Given the description of an element on the screen output the (x, y) to click on. 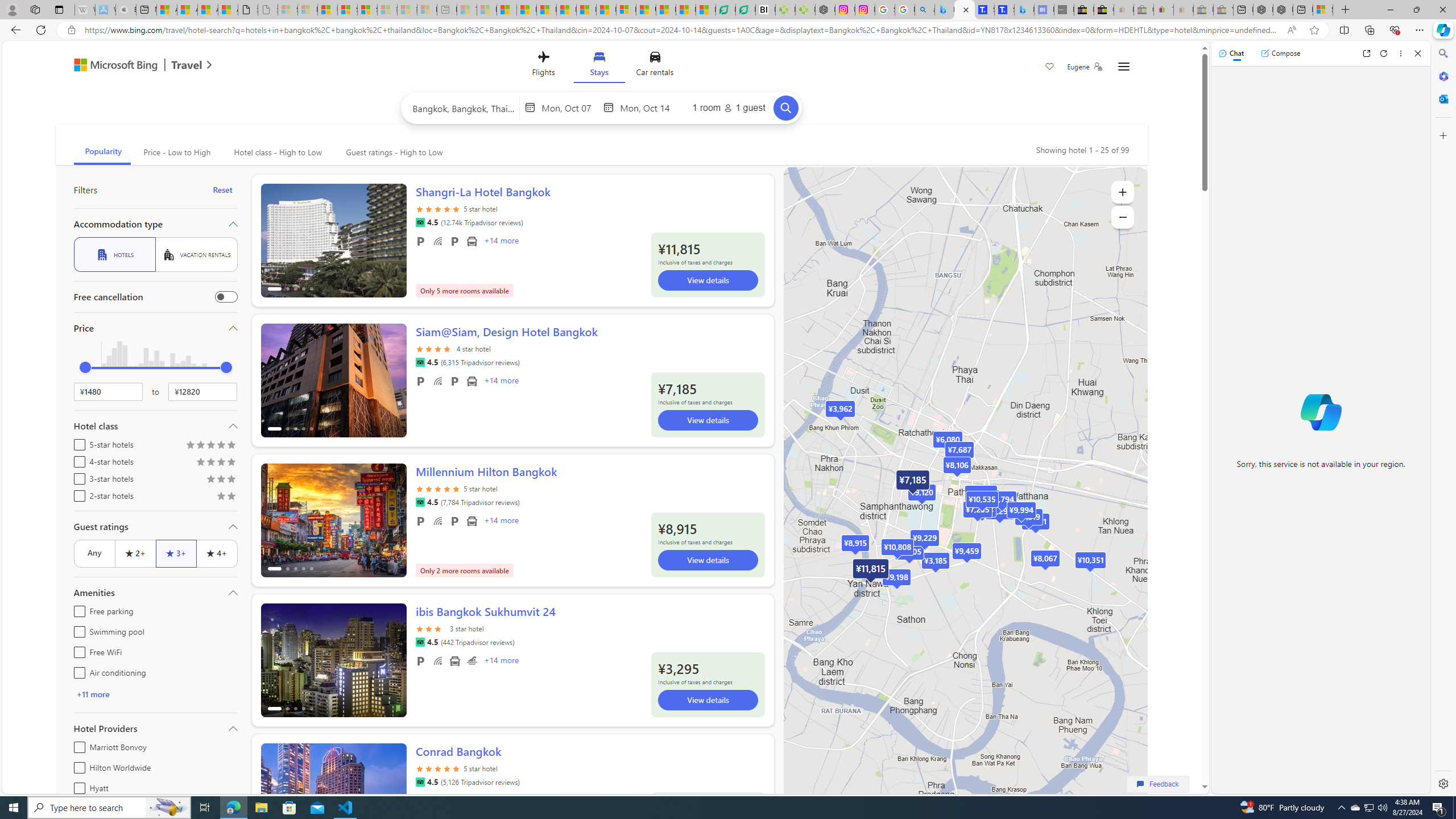
View details (708, 699)
Aberdeen, Hong Kong SAR severe weather | Microsoft Weather (227, 9)
Microsoft Services Agreement - Sleeping (306, 9)
alabama high school quarterback dies - Search (924, 9)
2+ (135, 553)
Zoom out (1122, 216)
Car rentals (654, 65)
Flights (542, 65)
Free WiFi (76, 650)
min  (84, 367)
Payments Terms of Use | eBay.com - Sleeping (1183, 9)
